Given the description of an element on the screen output the (x, y) to click on. 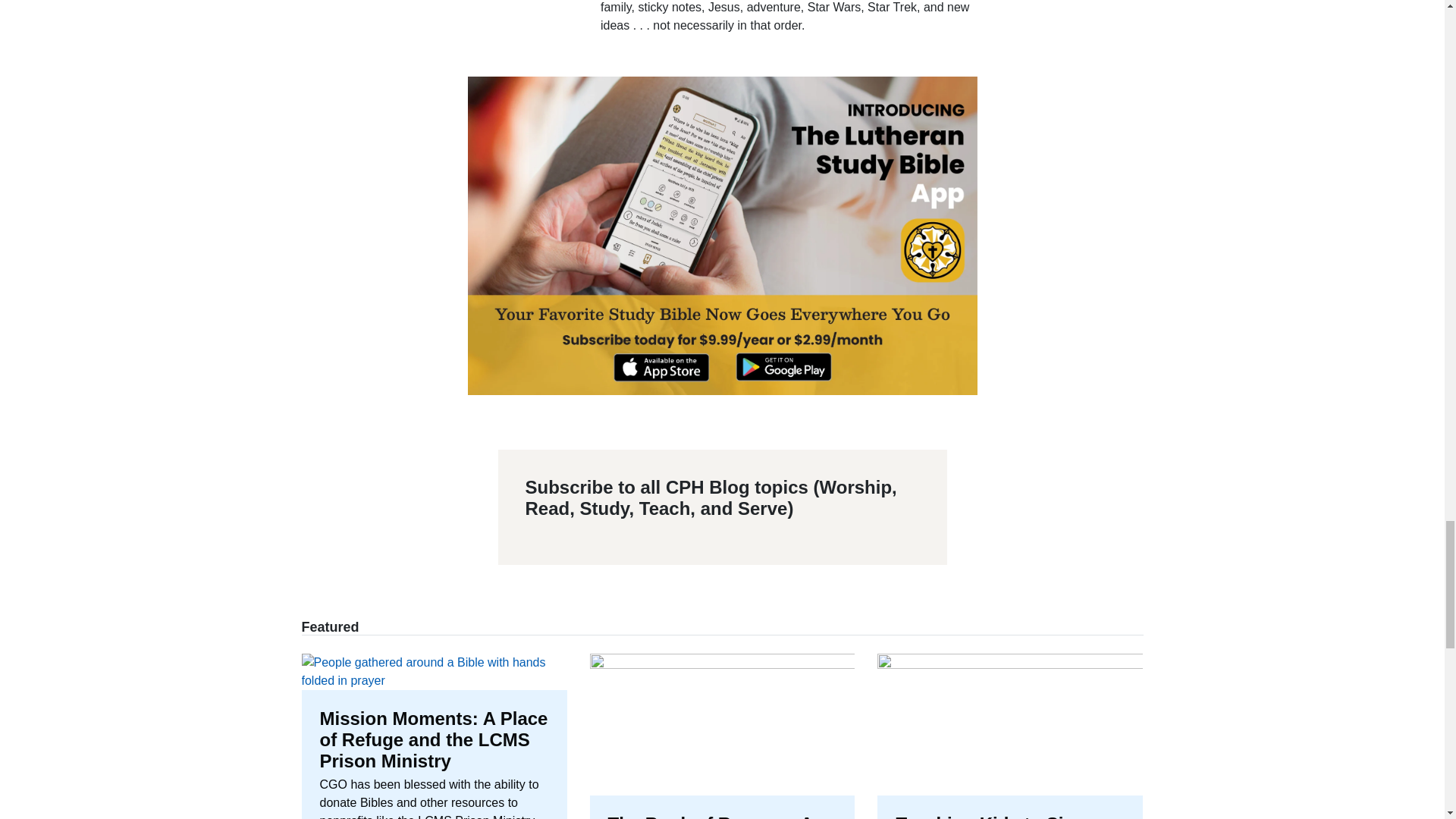
The Book of Romans: An Overview (722, 736)
Teaching Kids to Sing with Canons from One and All Rejoice (1009, 736)
